Given the description of an element on the screen output the (x, y) to click on. 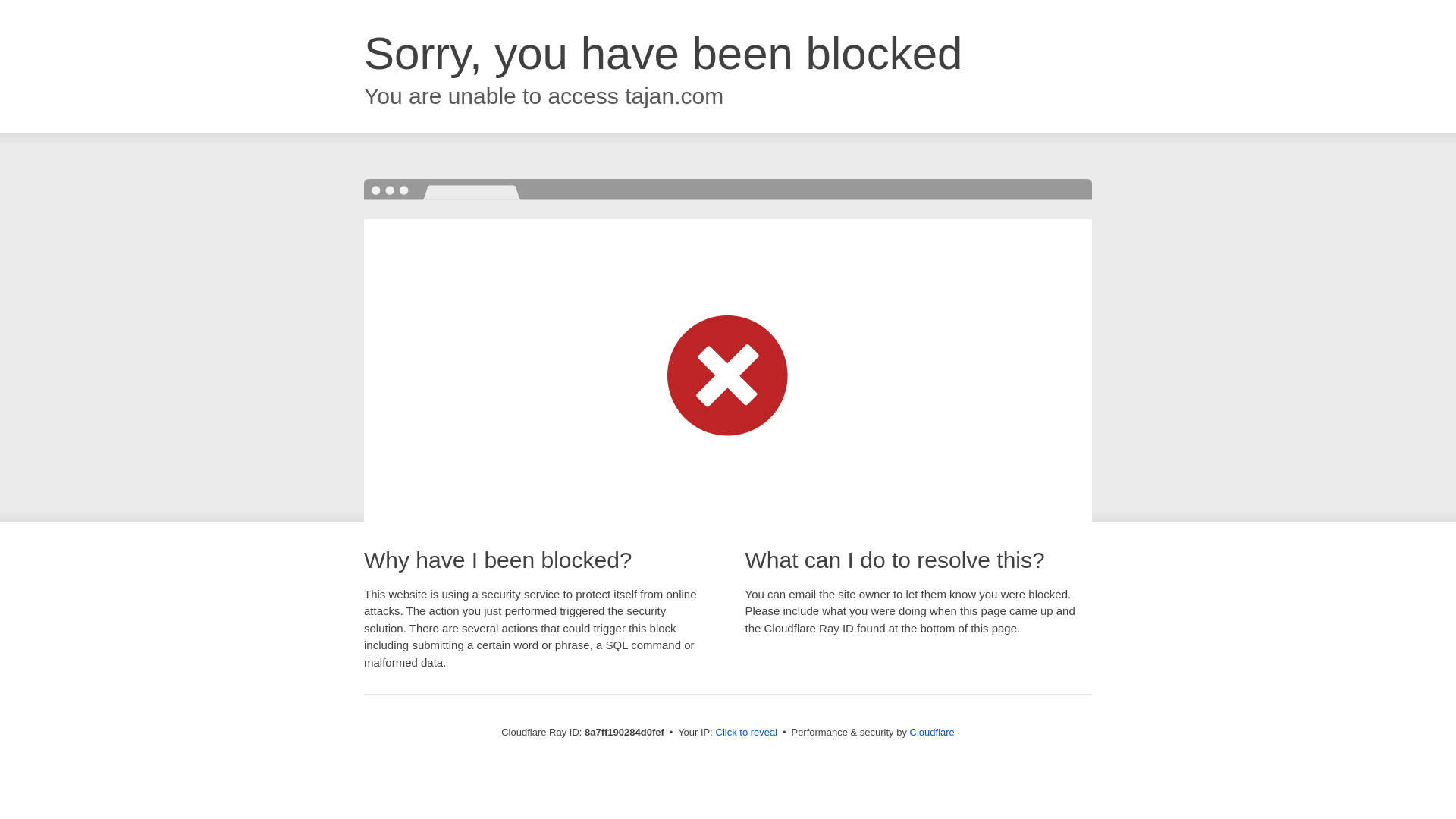
Cloudflare (932, 731)
Click to reveal (746, 732)
